Given the description of an element on the screen output the (x, y) to click on. 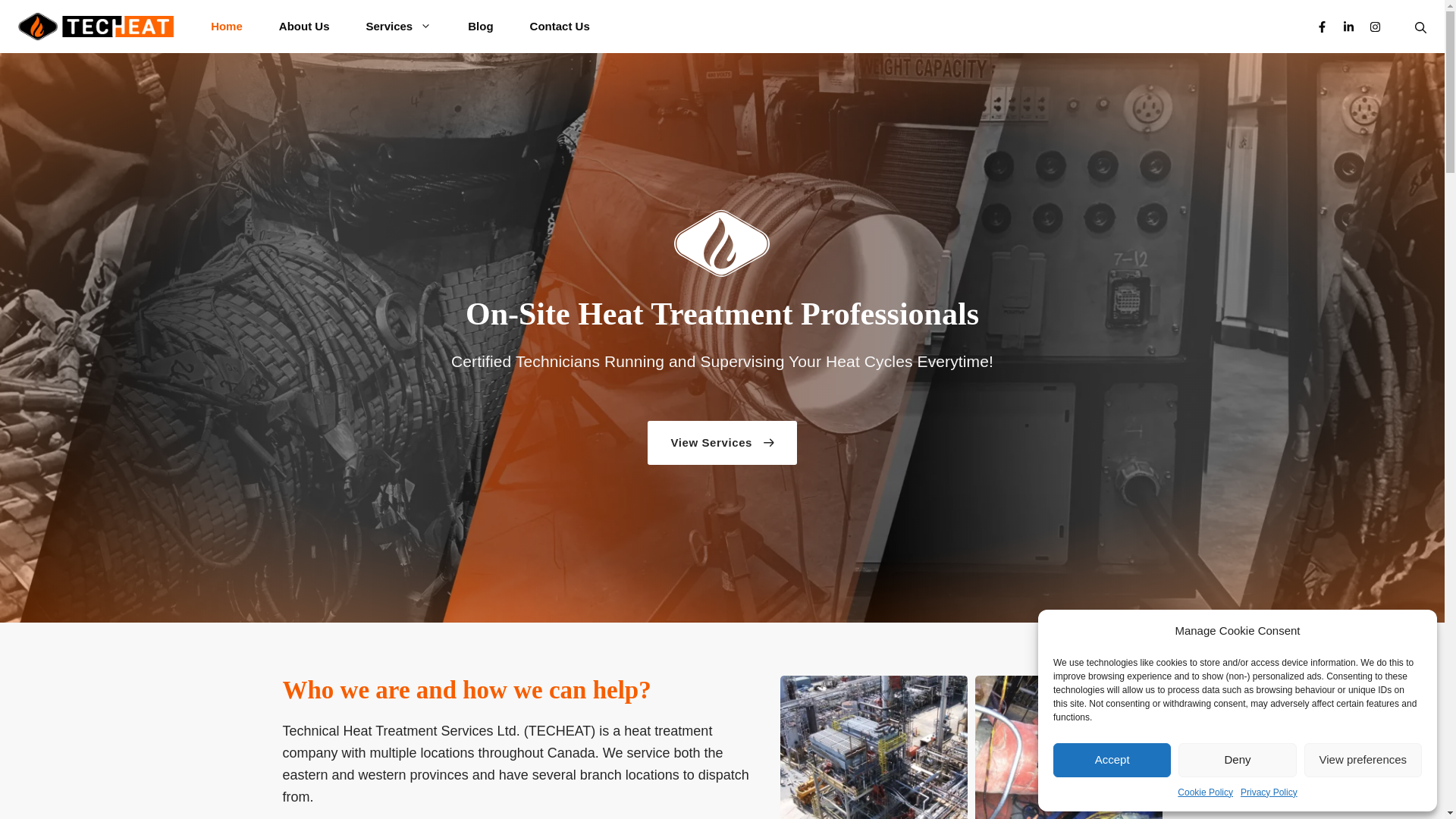
TECHEAT - Technical Heat Treatment Services Ltd. on LinkedIn (1348, 26)
Cookie Policy (1205, 792)
About Us (303, 26)
Blog (480, 26)
TECHEAT - Technical Heat Treatment Services Ltd. on Facebook (1321, 26)
Home (226, 26)
Accept (1111, 759)
Privacy Policy (1268, 792)
TECHEAT - Technical Heat Treatment Services Ltd. on LinkedIn (1348, 26)
Services (398, 26)
